Given the description of an element on the screen output the (x, y) to click on. 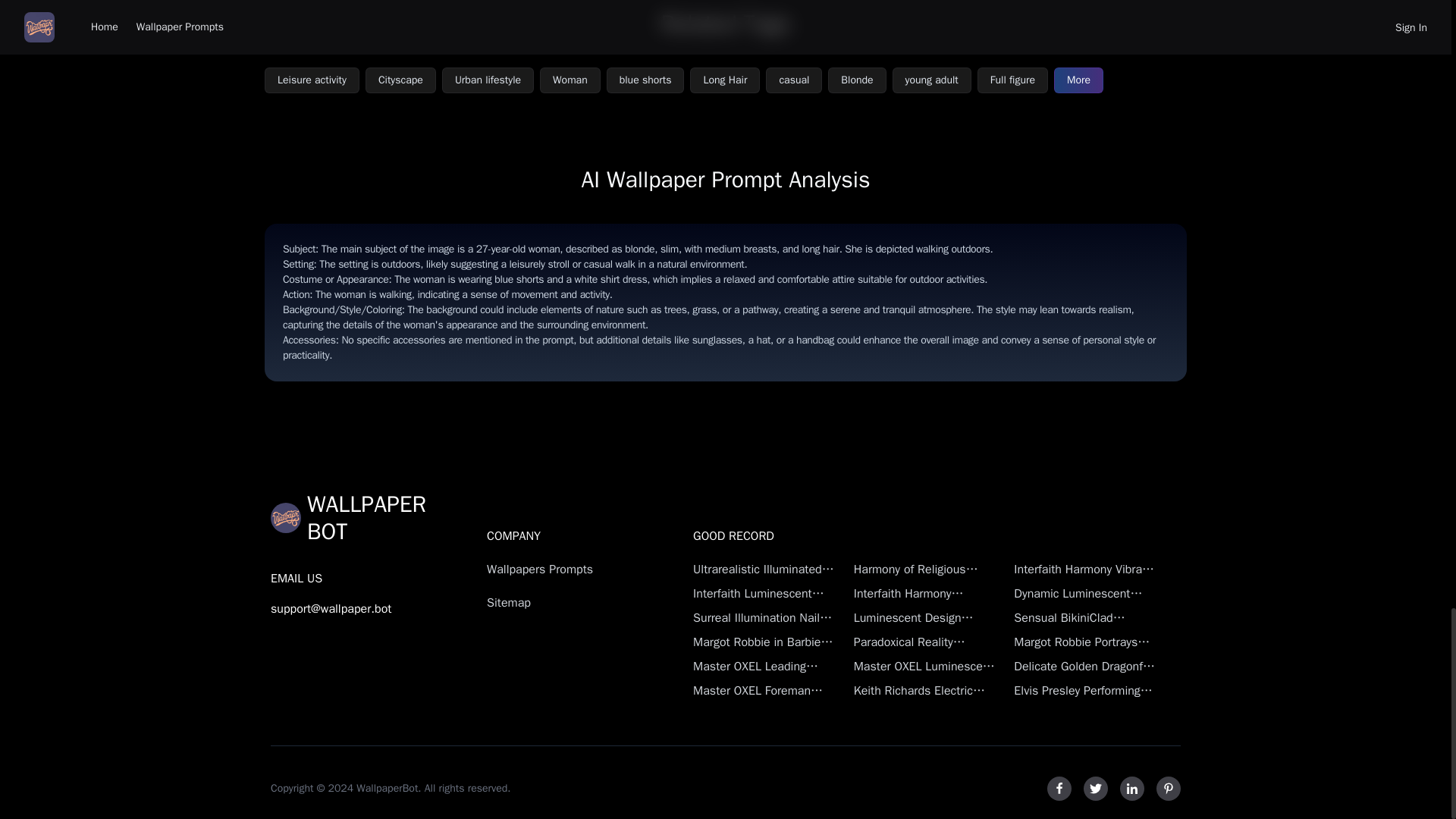
Ultrarealistic Illuminated Warrior in Ornamental Armor (764, 569)
Long Hair (725, 80)
Cityscape (400, 80)
Delicate Golden Dragonfly on Maple Leaf Ring Logo (1084, 666)
Wallpapers Prompts (562, 569)
blue shorts (645, 80)
More (1078, 80)
Margot Robbie Portrays Barbie in the Upcoming Barbie Movie (1084, 642)
Sitemap (562, 602)
young adult (931, 80)
Leisure activity (311, 80)
